Given the description of an element on the screen output the (x, y) to click on. 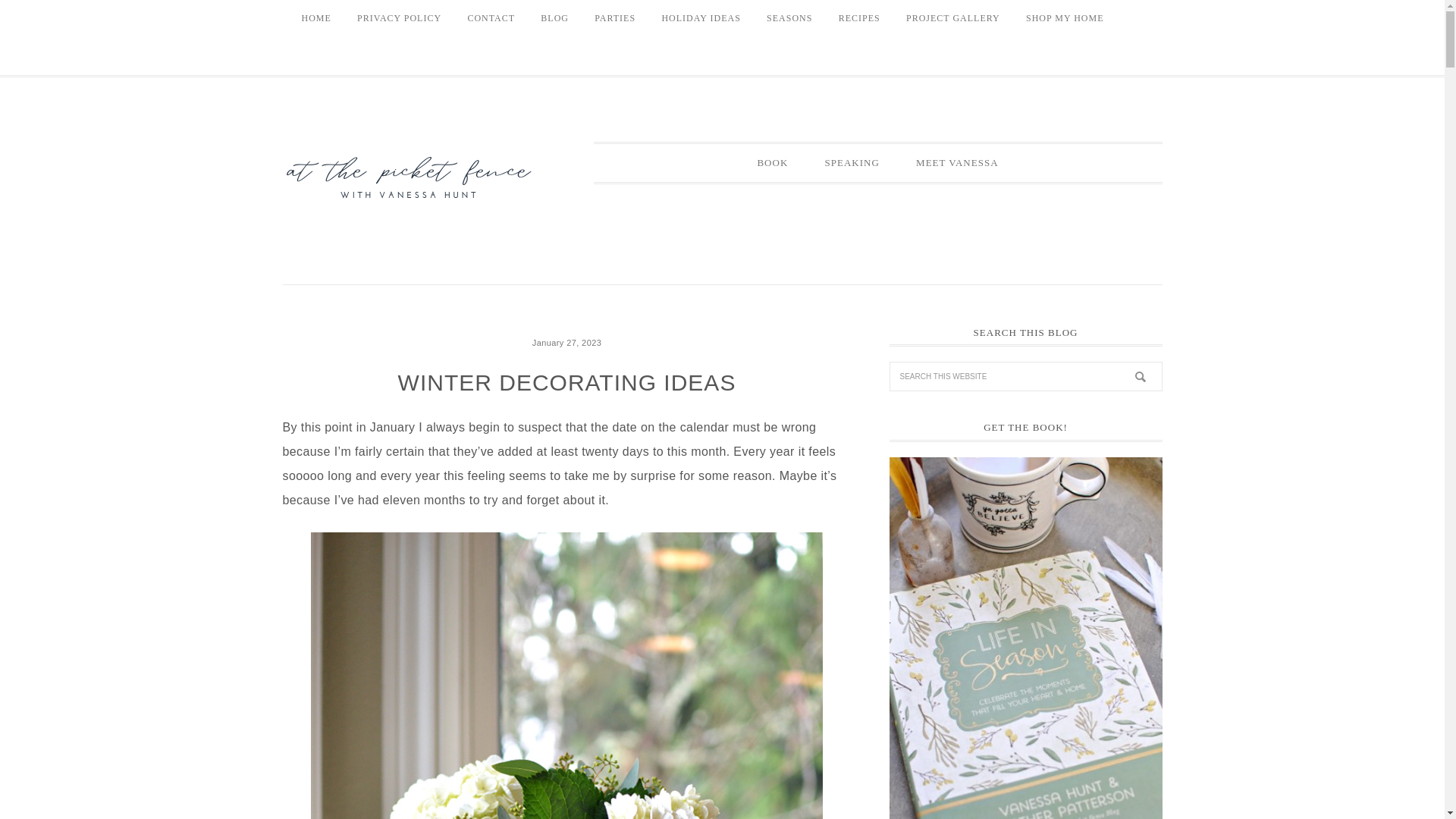
HOLIDAY IDEAS (700, 18)
PARTIES (614, 18)
PRIVACY POLICY (399, 18)
RECIPES (859, 18)
HOME (315, 18)
BLOG (554, 18)
SHOP MY HOME (1064, 18)
PROJECT GALLERY (953, 18)
SEASONS (789, 18)
CONTACT (490, 18)
